Given the description of an element on the screen output the (x, y) to click on. 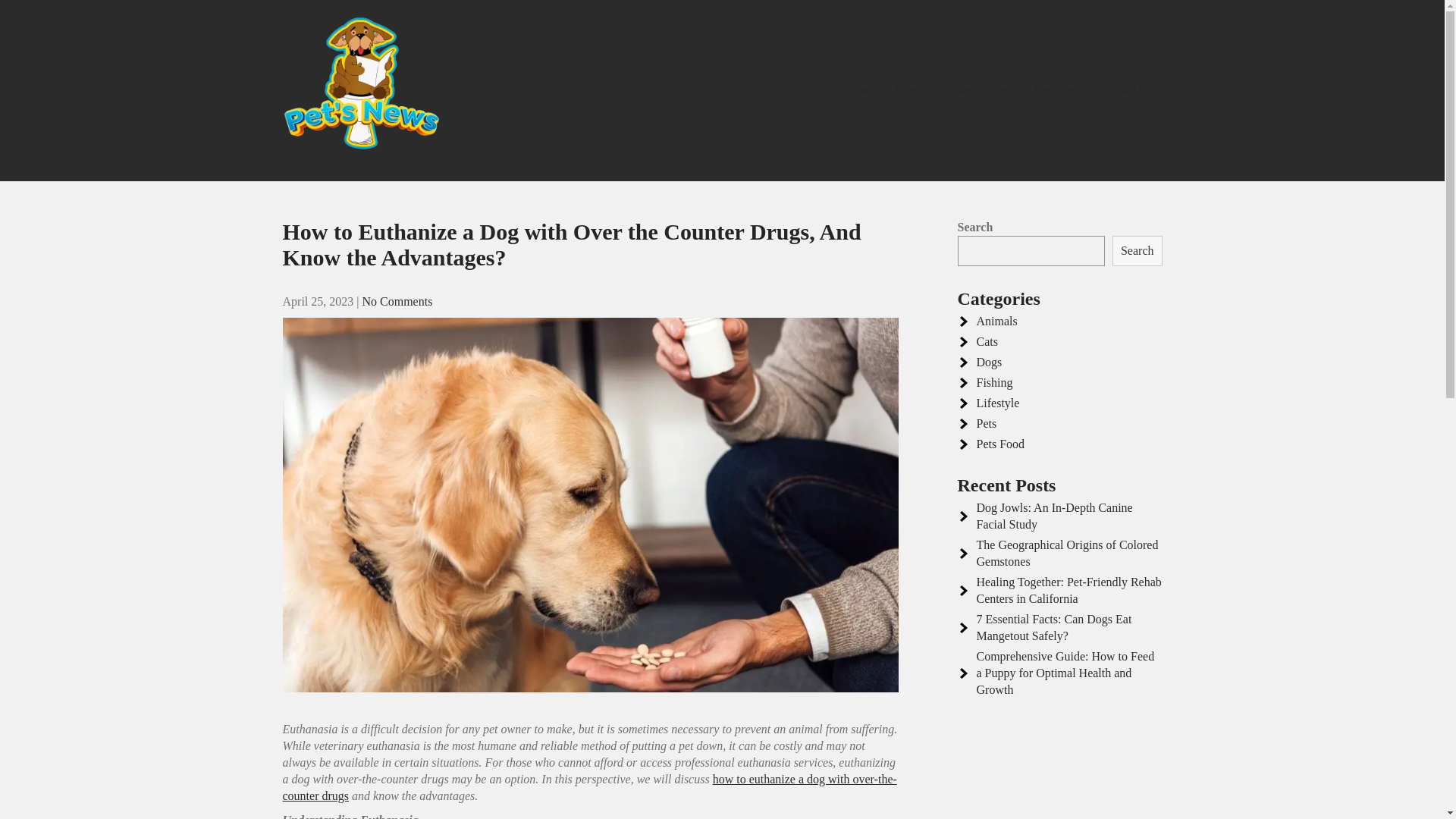
Dogs (989, 361)
how to euthanize a dog with over-the-counter drugs (589, 787)
Dog Jowls: An In-Depth Canine Facial Study (1054, 515)
No Comments (396, 300)
Fishing (955, 89)
Healing Together: Pet-Friendly Rehab Centers in California (1068, 590)
The Geographical Origins of Colored Gemstones (1067, 553)
Fishing (994, 382)
Cats (986, 341)
Contact Us (1125, 89)
PetsNews (346, 190)
7 Essential Facts: Can Dogs Eat Mangetout Safely? (1054, 627)
Lifestyle (998, 402)
Dogs (905, 89)
